Given the description of an element on the screen output the (x, y) to click on. 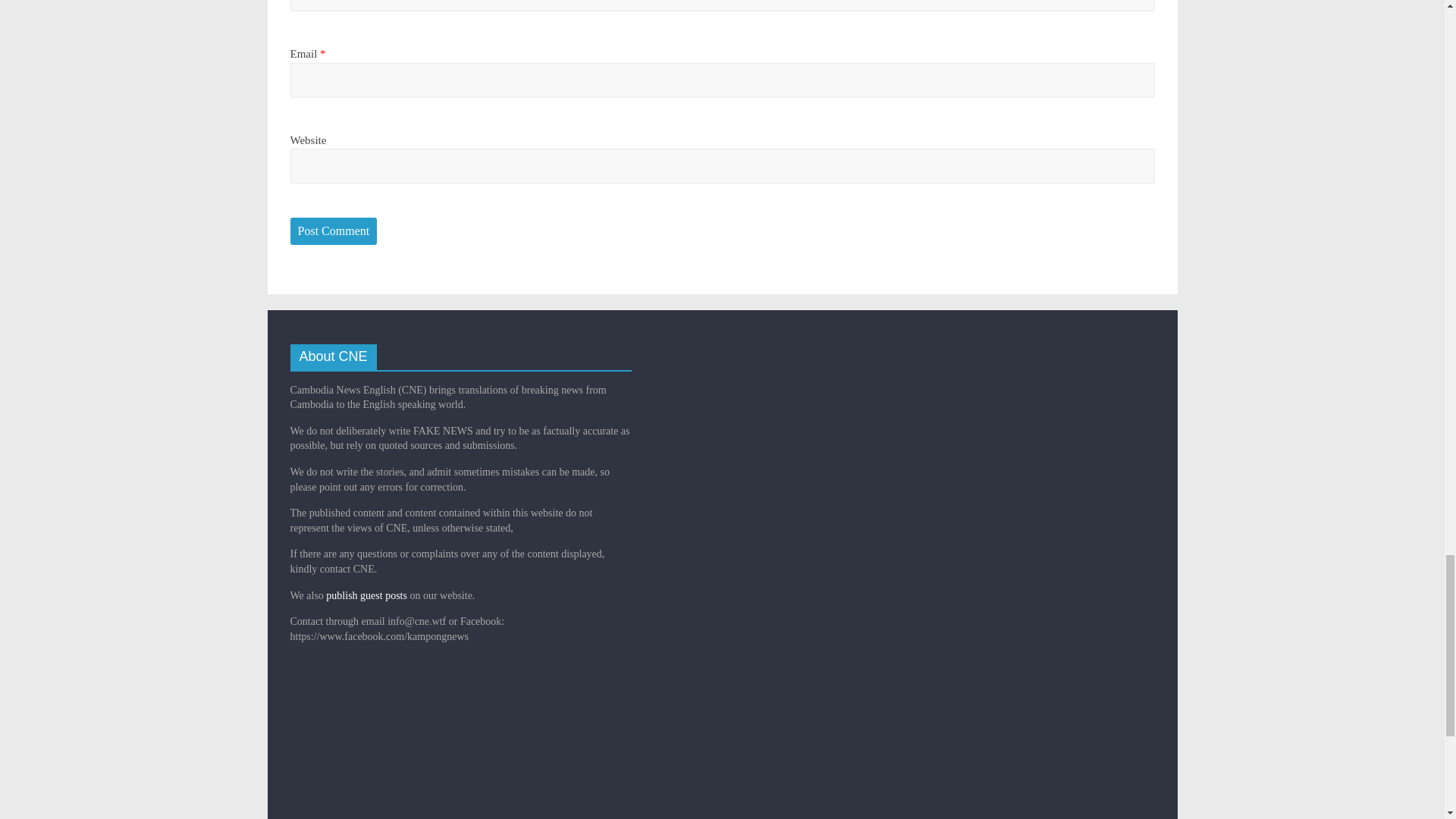
Post Comment (333, 230)
